Given the description of an element on the screen output the (x, y) to click on. 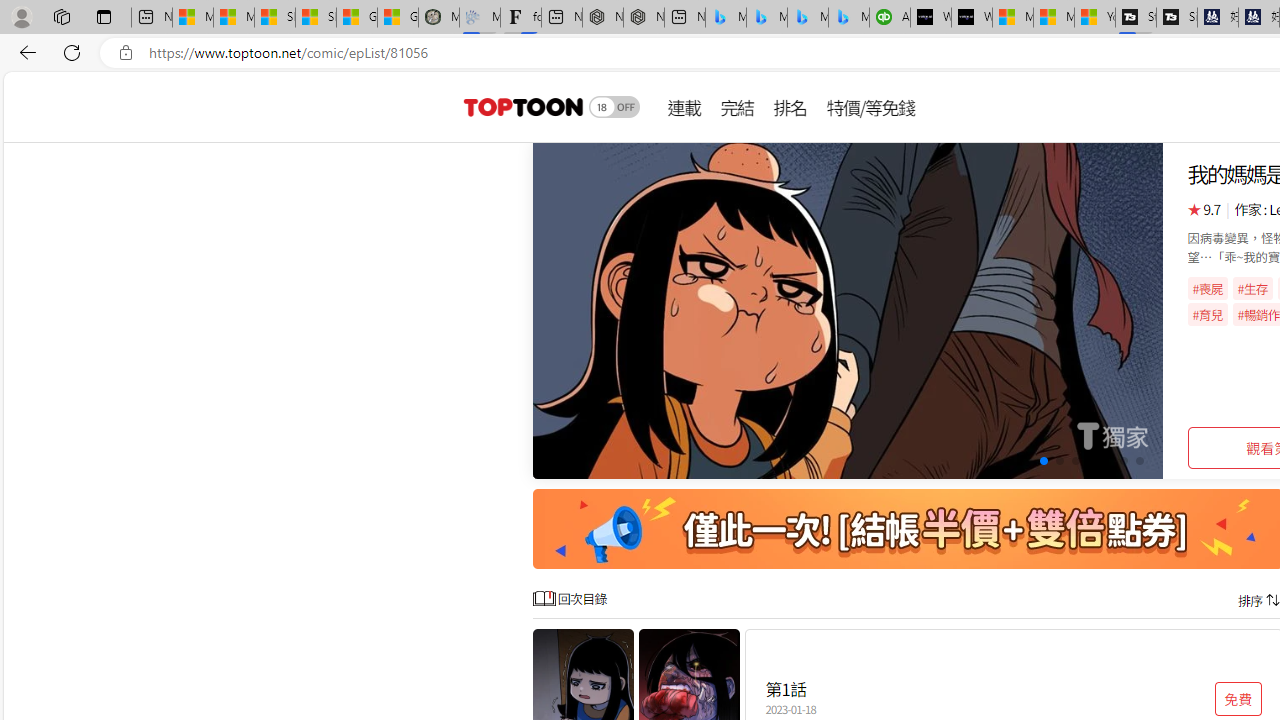
Class: swiper-slide swiper-slide-active (847, 310)
Go to slide 9 (1122, 461)
Microsoft Bing Travel - Stays in Bangkok, Bangkok, Thailand (767, 17)
Streaming Coverage | T3 (1135, 17)
Tab actions menu (104, 16)
View site information (125, 53)
Gilma and Hector both pose tropical trouble for Hawaii (397, 17)
Go to slide 3 (1026, 461)
Back (24, 52)
Microsoft Start (1053, 17)
header (519, 106)
